Given the description of an element on the screen output the (x, y) to click on. 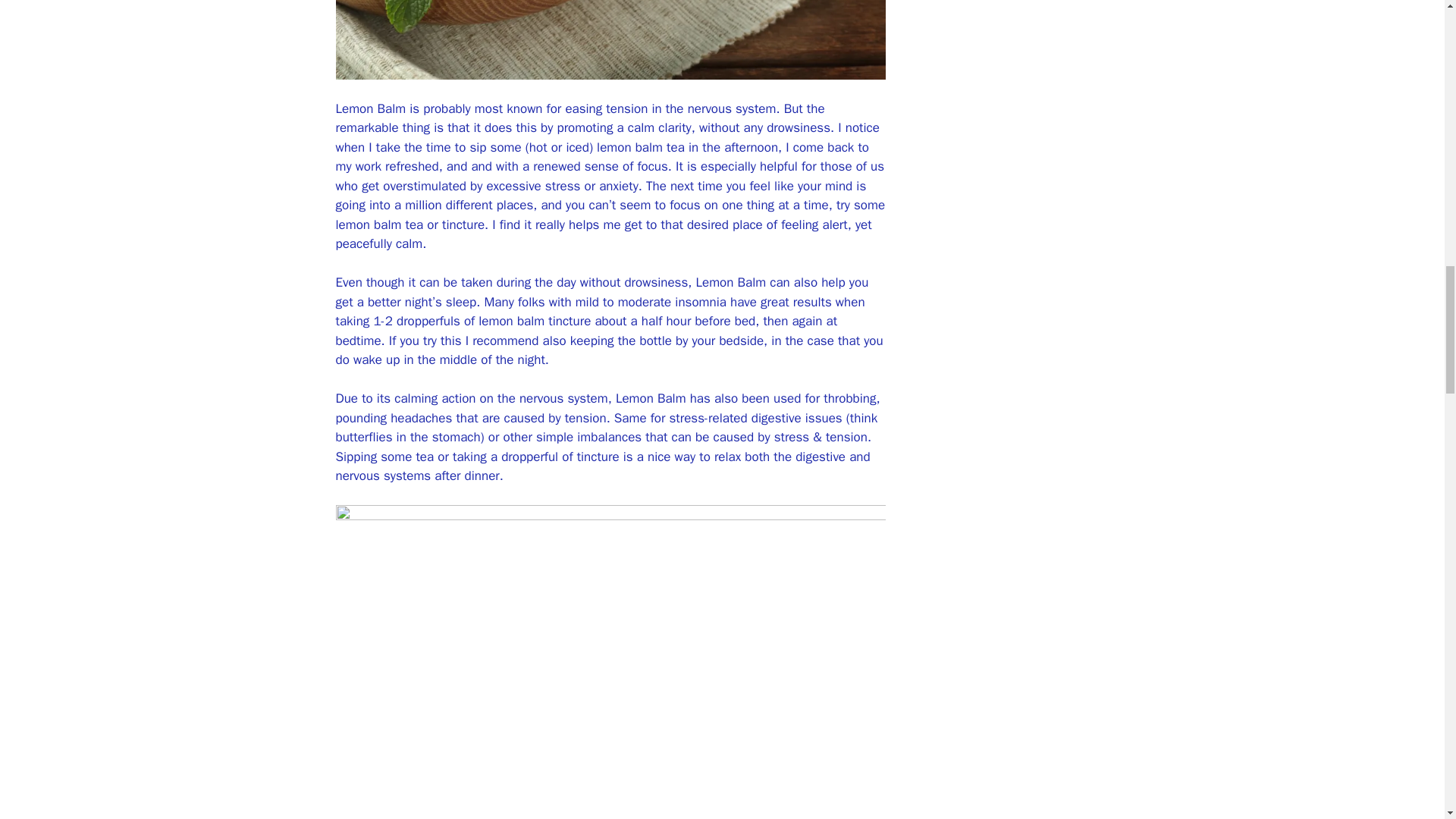
tincture (461, 224)
tincture (596, 456)
lemon balm tincture (536, 320)
